Given the description of an element on the screen output the (x, y) to click on. 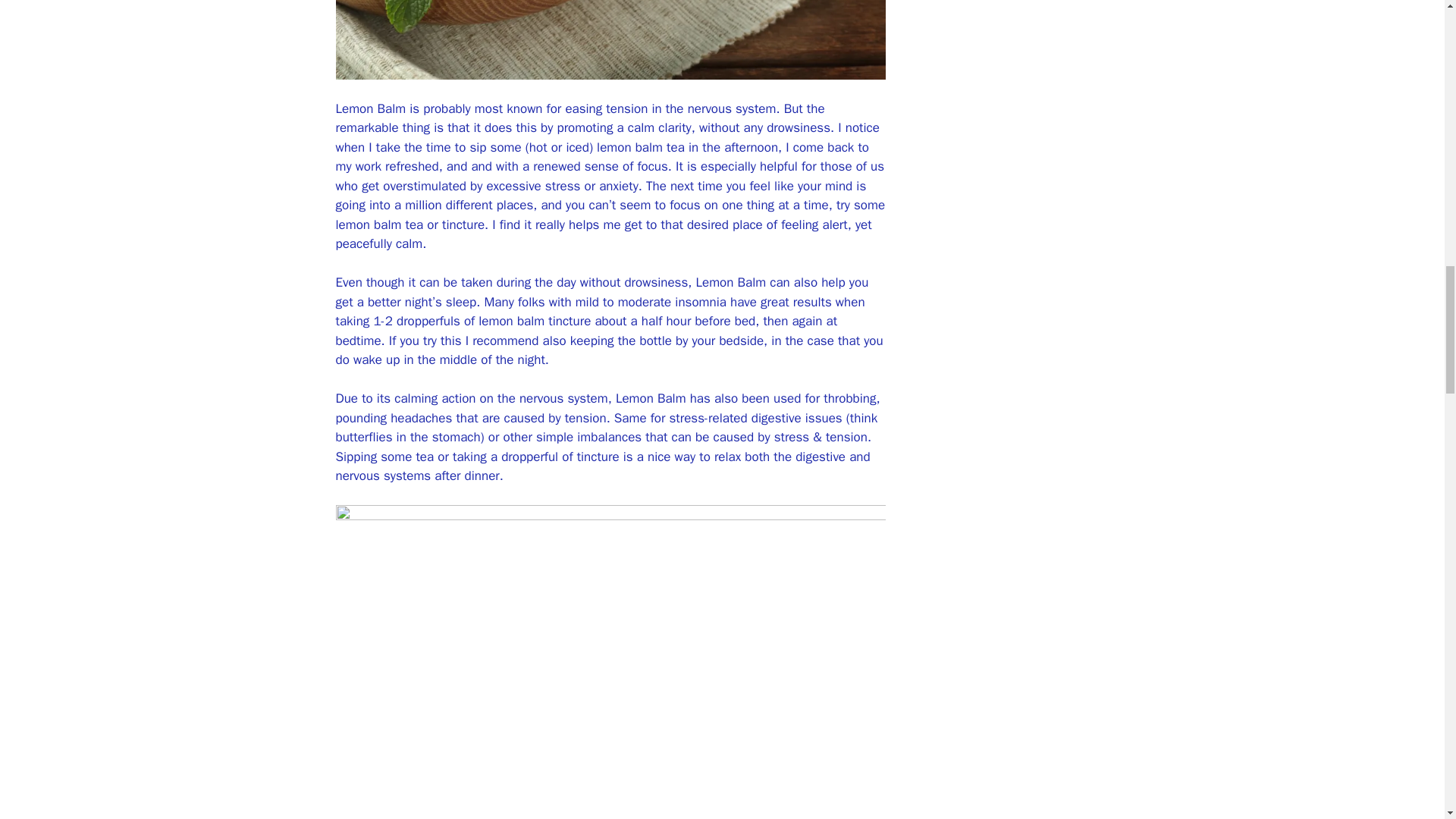
tincture (461, 224)
tincture (596, 456)
lemon balm tincture (536, 320)
